Given the description of an element on the screen output the (x, y) to click on. 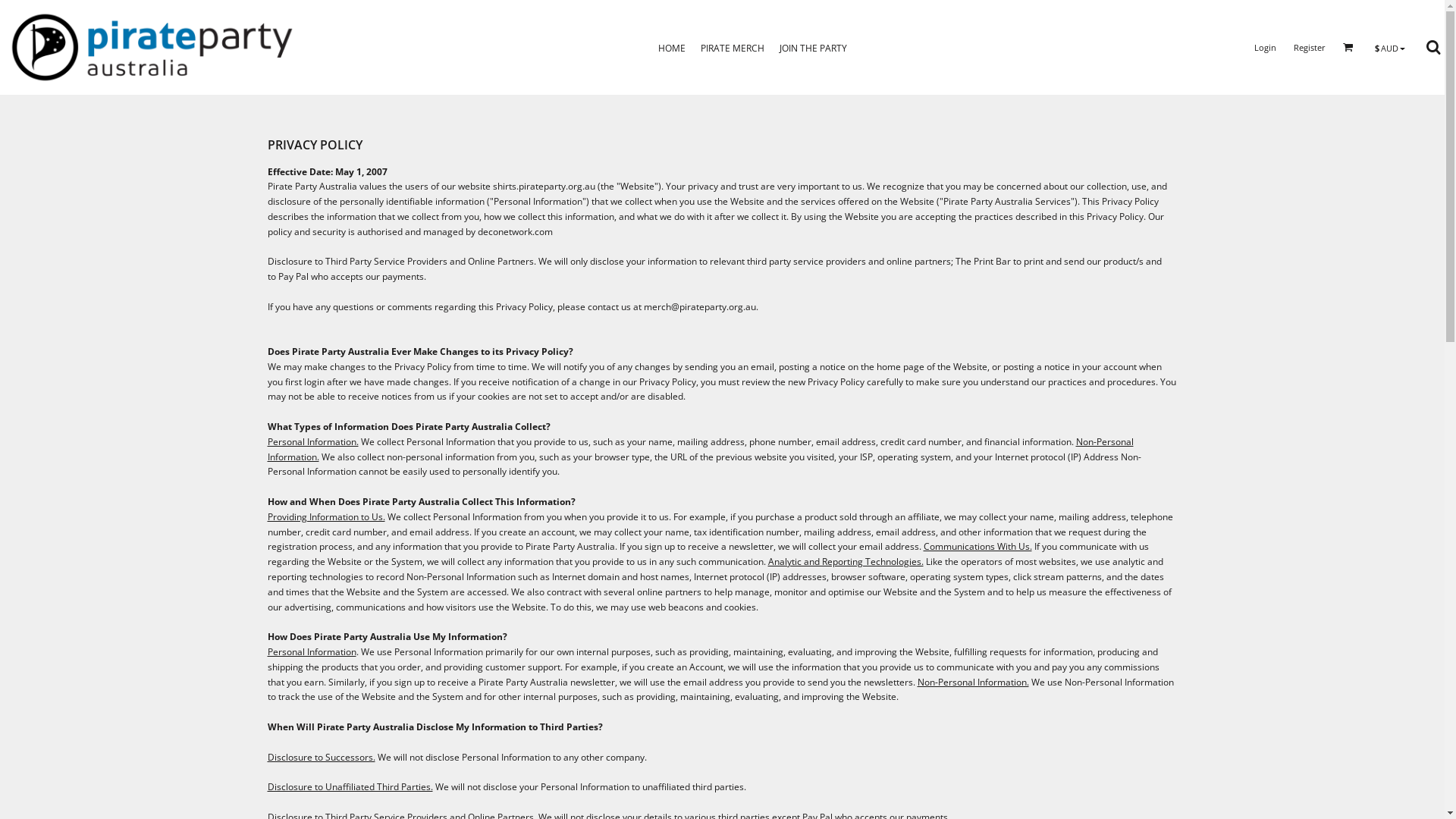
Register Element type: text (1309, 47)
JOIN THE PARTY Element type: text (813, 46)
HOME Element type: text (671, 46)
PIRATE MERCH Element type: text (732, 46)
Login Element type: text (1265, 47)
Pay Pal Element type: text (292, 275)
as Element type: text (11, 7)
The Print Bar Element type: text (982, 260)
